Given the description of an element on the screen output the (x, y) to click on. 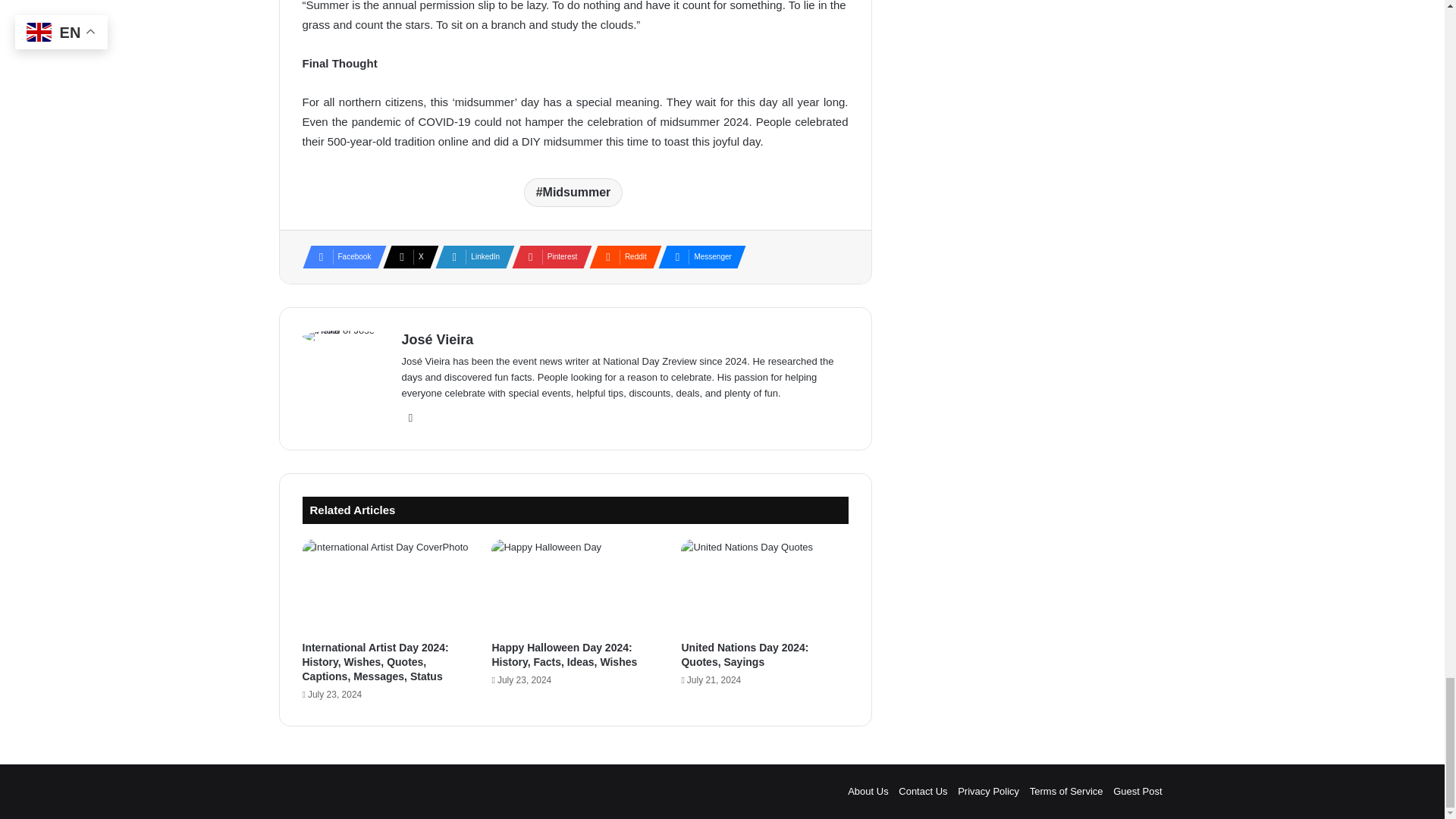
Reddit (620, 256)
X (405, 256)
Messenger (697, 256)
LinkedIn (470, 256)
Facebook (339, 256)
Reddit (620, 256)
Facebook (339, 256)
Midsummer (573, 192)
LinkedIn (470, 256)
Pinterest (547, 256)
X (405, 256)
Pinterest (547, 256)
Messenger (697, 256)
